Given the description of an element on the screen output the (x, y) to click on. 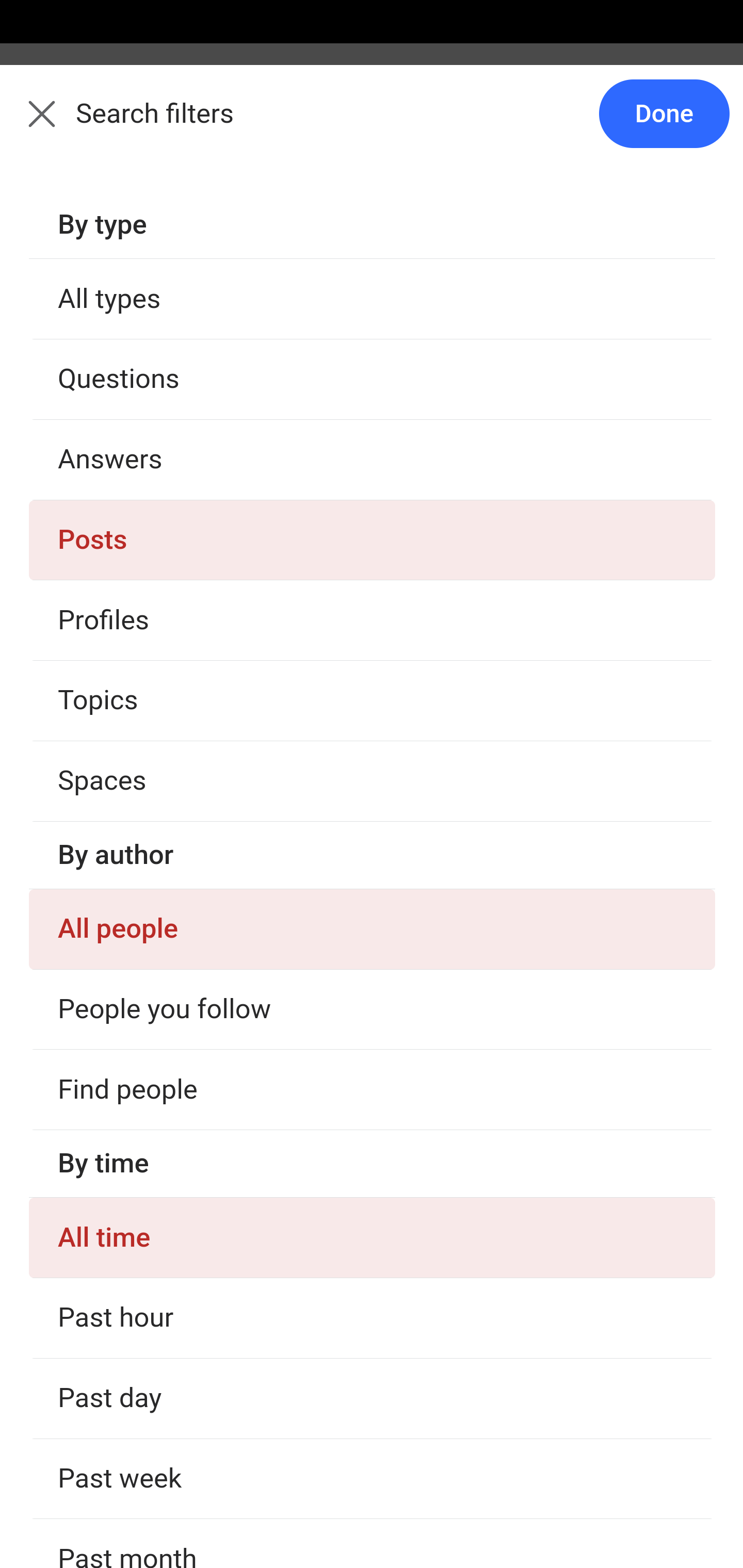
Back Search (371, 125)
Back (30, 125)
Answer (125, 387)
What industries will virtual reality (VR) disrupt? (372, 1309)
Answer (125, 1415)
